Given the description of an element on the screen output the (x, y) to click on. 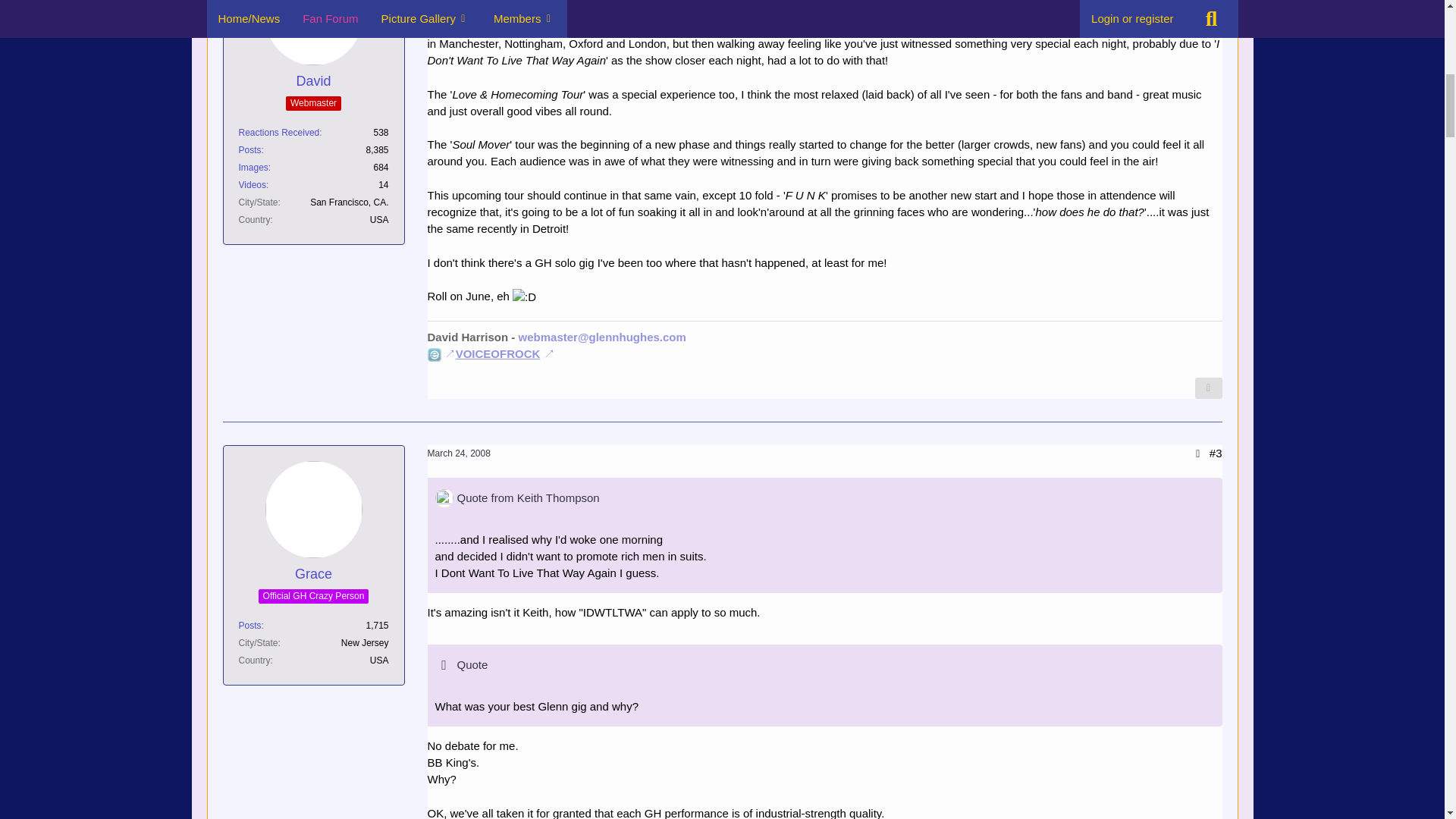
David (312, 81)
thumbup (546, 1)
Reactions Received (278, 132)
biggrin (523, 297)
